Given the description of an element on the screen output the (x, y) to click on. 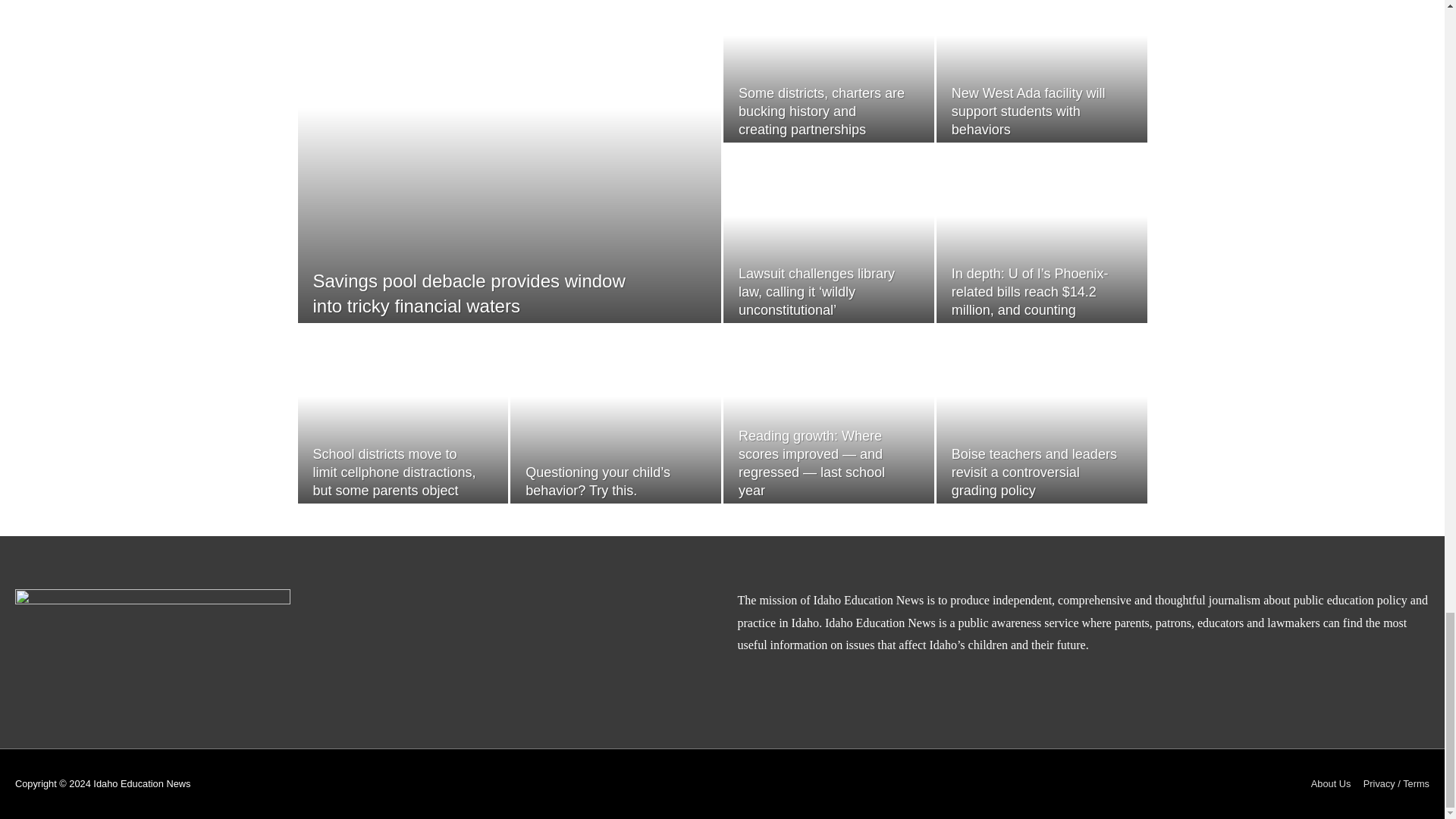
New West Ada facility will support students with behaviors (815, 291)
